Given the description of an element on the screen output the (x, y) to click on. 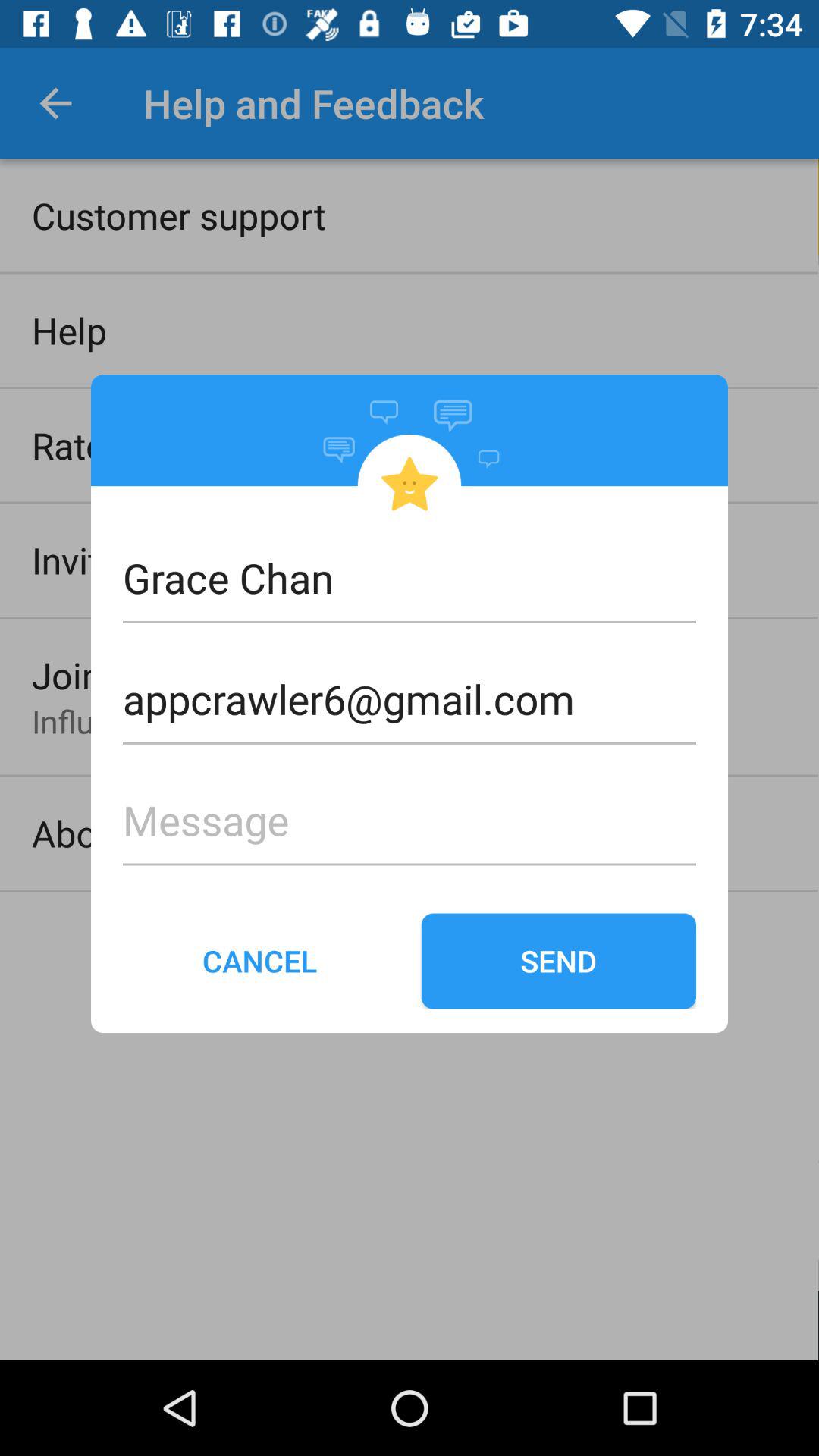
turn on the cancel item (259, 960)
